Given the description of an element on the screen output the (x, y) to click on. 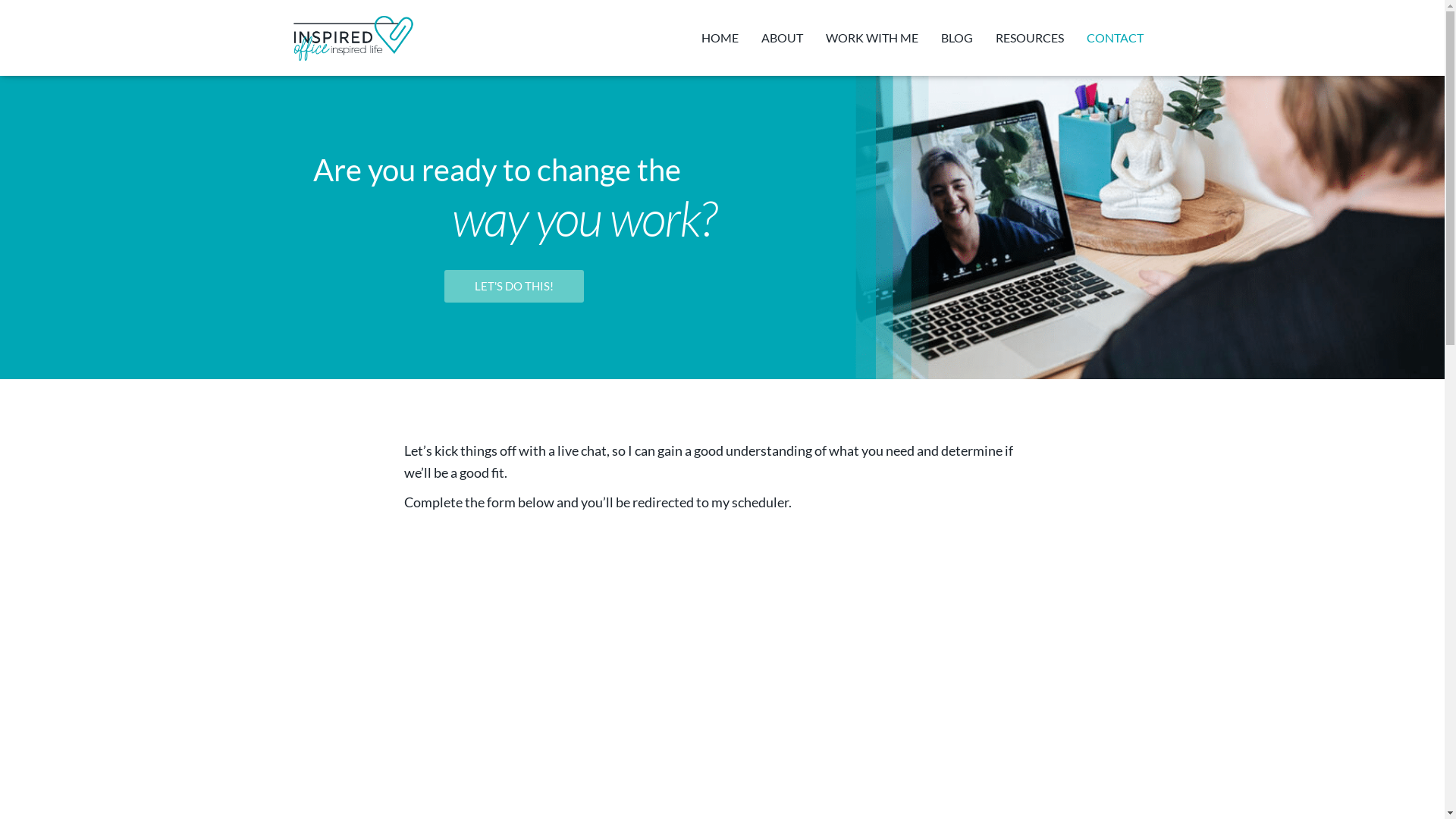
ABOUT Element type: text (781, 37)
WORK WITH ME Element type: text (871, 37)
LET'S DO THIS! Element type: text (513, 285)
BLOG Element type: text (956, 37)
HOME Element type: text (719, 37)
CONTACT Element type: text (1114, 37)
RESOURCES Element type: text (1029, 37)
Inspired Office Element type: hover (353, 37)
